Given the description of an element on the screen output the (x, y) to click on. 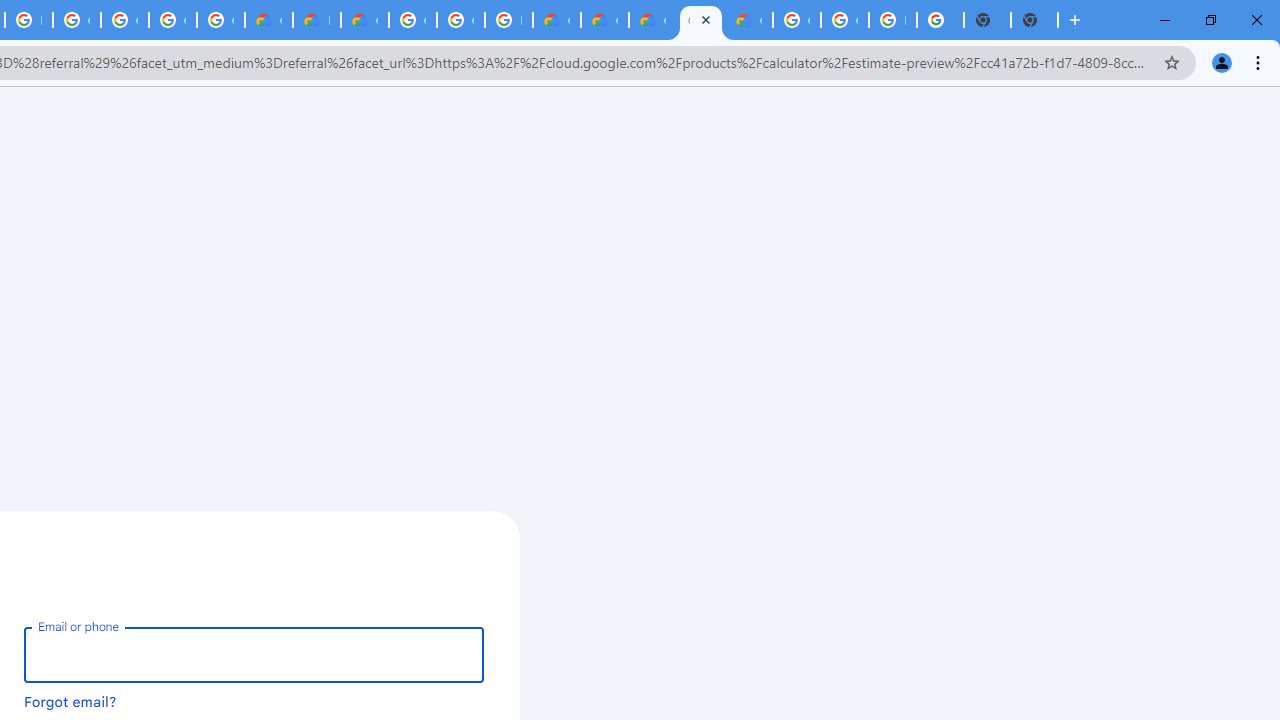
Google Cloud Platform (844, 20)
Customer Care | Google Cloud (556, 20)
Google Workspace - Specific Terms (220, 20)
Forgot email? (70, 701)
Google Cloud Platform (460, 20)
Google Cloud Platform (796, 20)
Google Workspace - Specific Terms (172, 20)
New Tab (1034, 20)
